Given the description of an element on the screen output the (x, y) to click on. 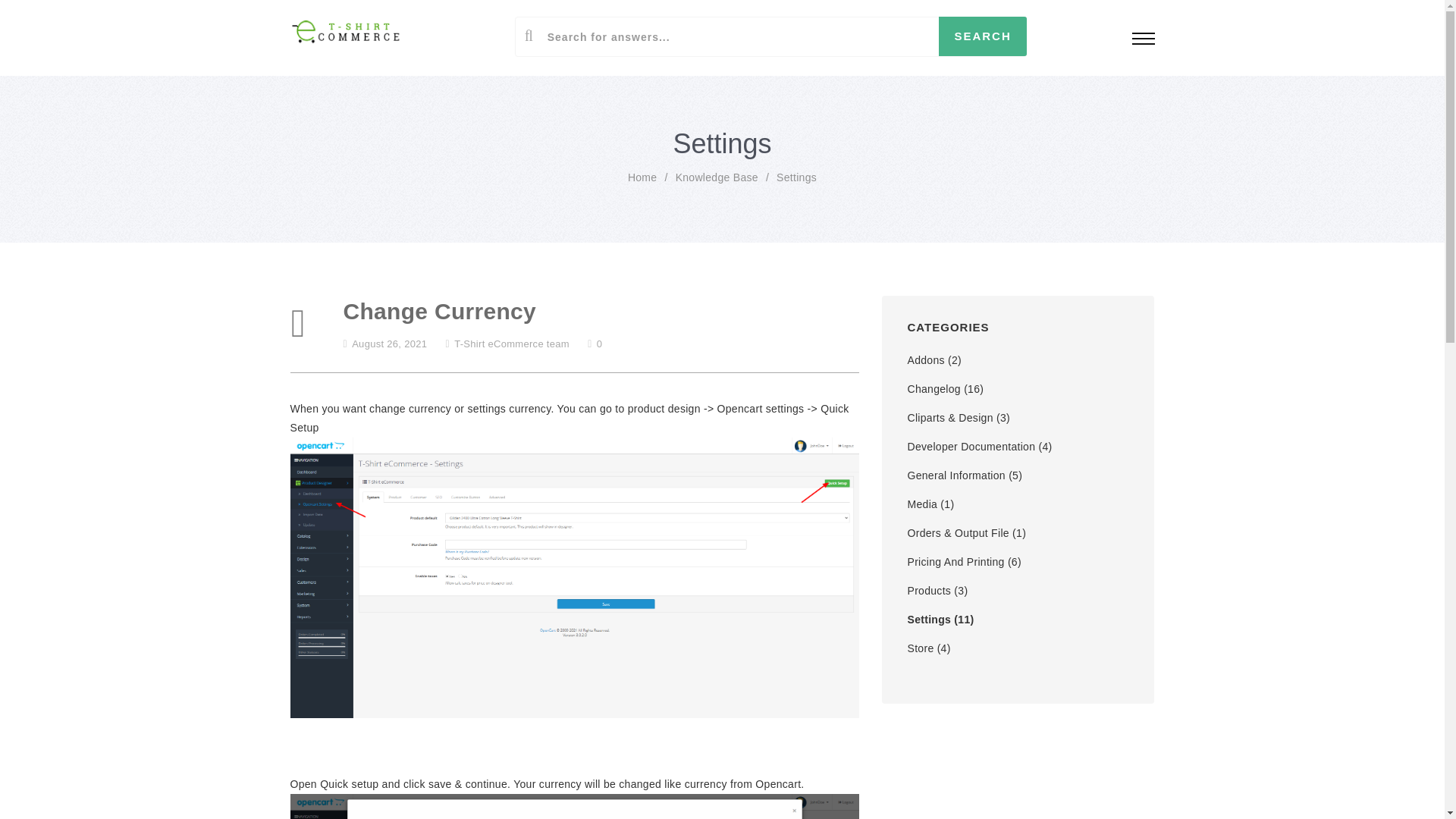
Search (982, 36)
Home (642, 177)
General Information (955, 475)
Addons (925, 359)
Knowledge Base (716, 177)
Media (922, 503)
Search (982, 36)
Developer Documentation (971, 446)
Changelog (933, 388)
Products (928, 590)
Pricing And Printing (955, 562)
Store (920, 648)
Settings (928, 619)
Settings (796, 177)
